Given the description of an element on the screen output the (x, y) to click on. 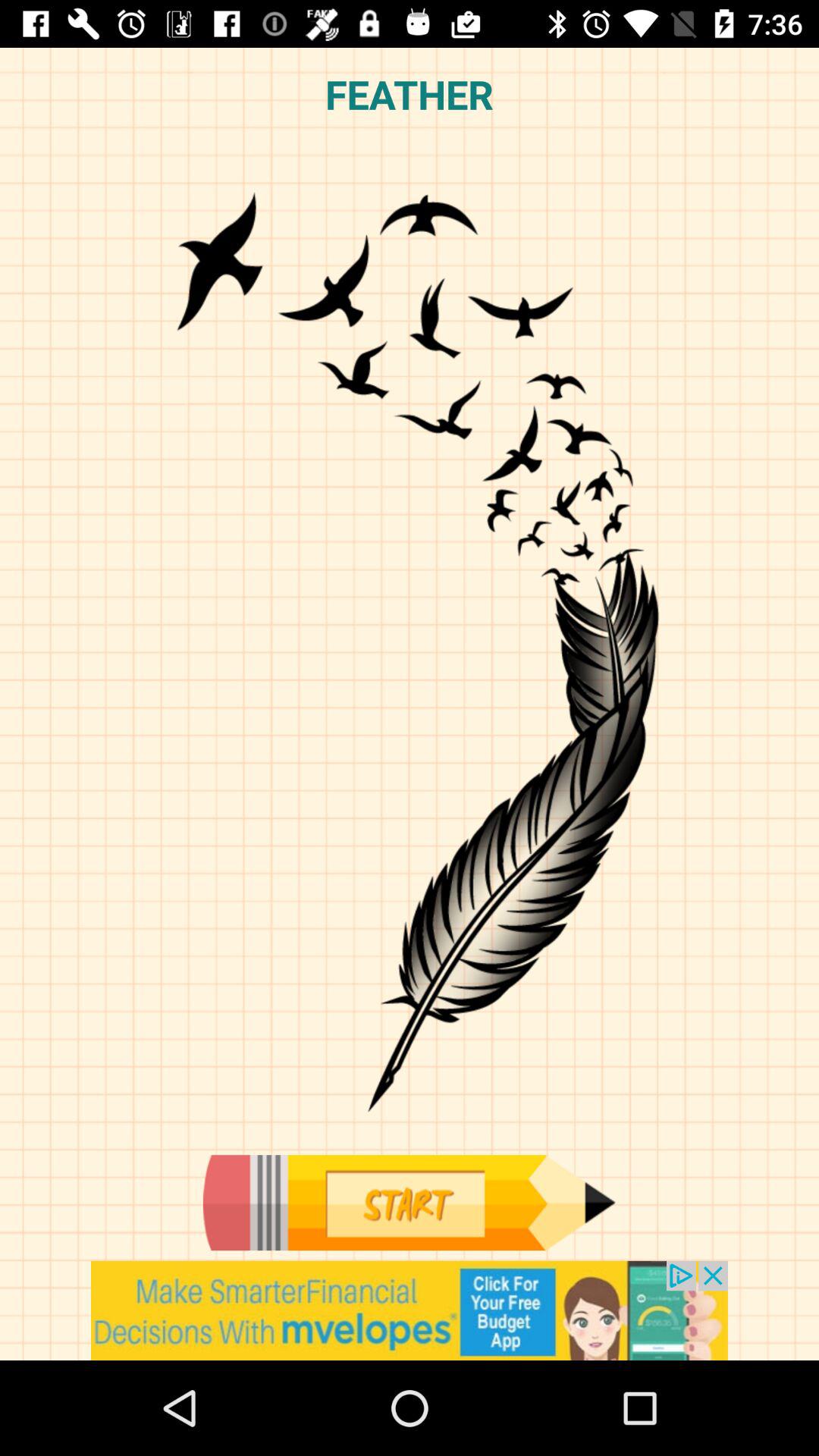
go to advertisement option (409, 1310)
